Given the description of an element on the screen output the (x, y) to click on. 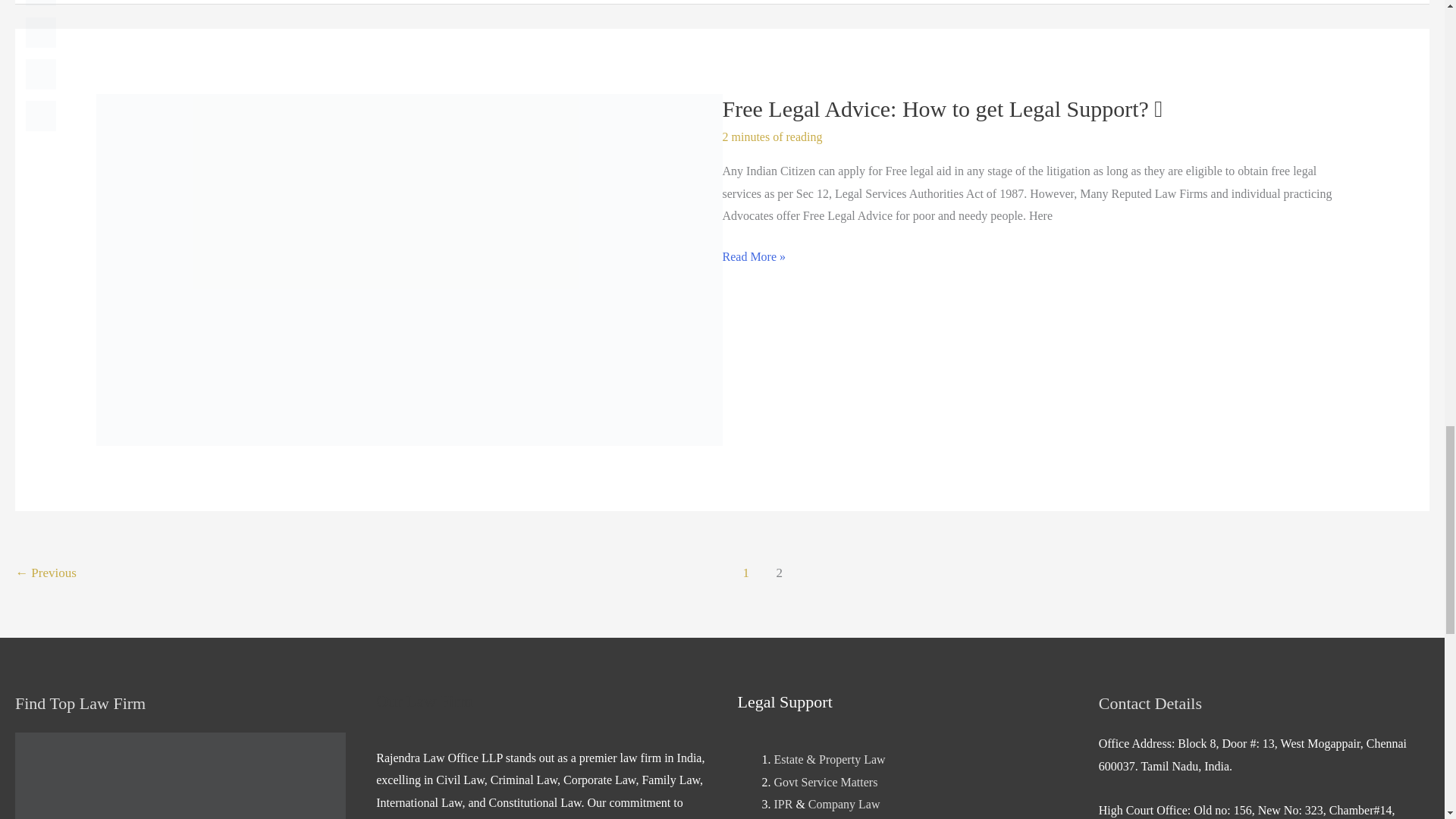
LinkedIn (41, 114)
1 (745, 574)
Facebook (41, 32)
Follow by Email (41, 2)
Rajendra Law Office (180, 775)
Govt Service Matters (825, 781)
IPR (782, 803)
Company Law (844, 803)
Twitter (41, 73)
